Given the description of an element on the screen output the (x, y) to click on. 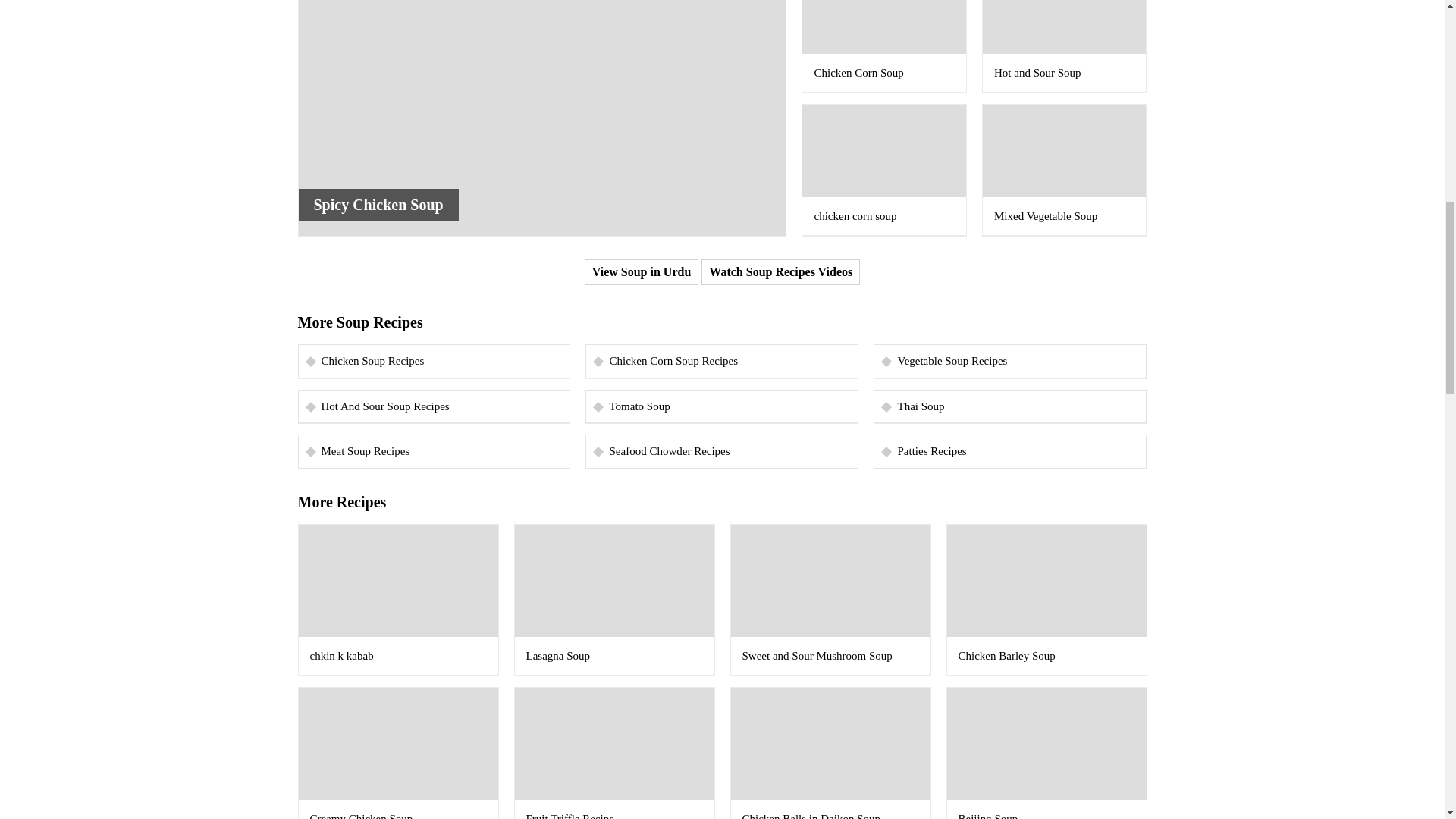
Chicken Corn Soup (884, 46)
Hot and Sour Soup (1064, 46)
Sweet and Sour Mushroom Soup (830, 599)
Chicken Soup Recipes (433, 360)
Lasagna Soup (613, 599)
Spicy Chicken Soup (542, 118)
Fruit Triffle Recipe (613, 753)
Hot And Sour Soup Recipes (433, 406)
Watch Soup Recipes Videos (780, 272)
Chicken Corn Soup Recipes (722, 360)
